Given the description of an element on the screen output the (x, y) to click on. 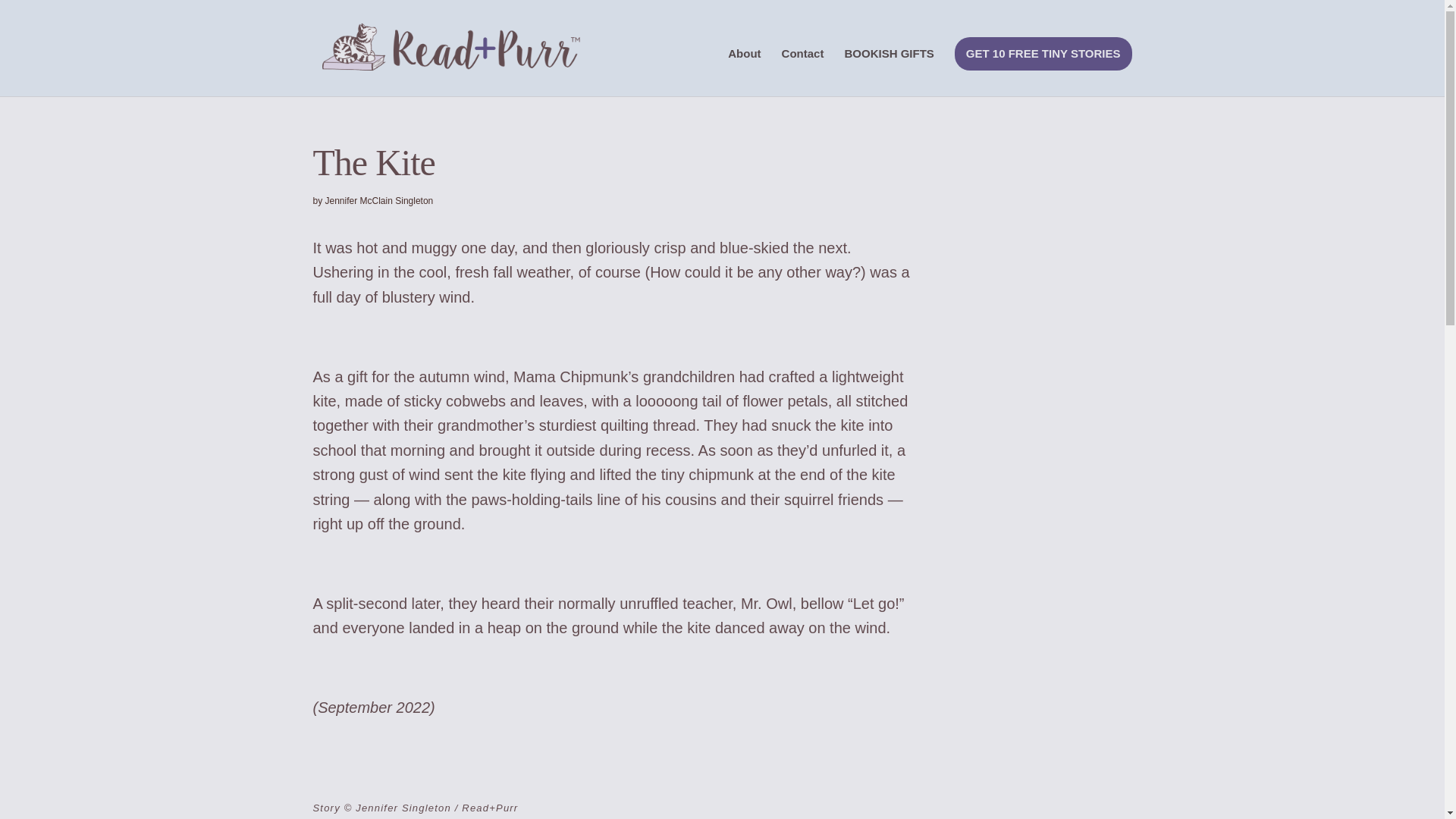
Contact (802, 72)
Posts by Jennifer McClain Singleton (378, 200)
BOOKISH GIFTS (888, 72)
Jennifer McClain Singleton (378, 200)
GET 10 FREE TINY STORIES (1043, 53)
